Given the description of an element on the screen output the (x, y) to click on. 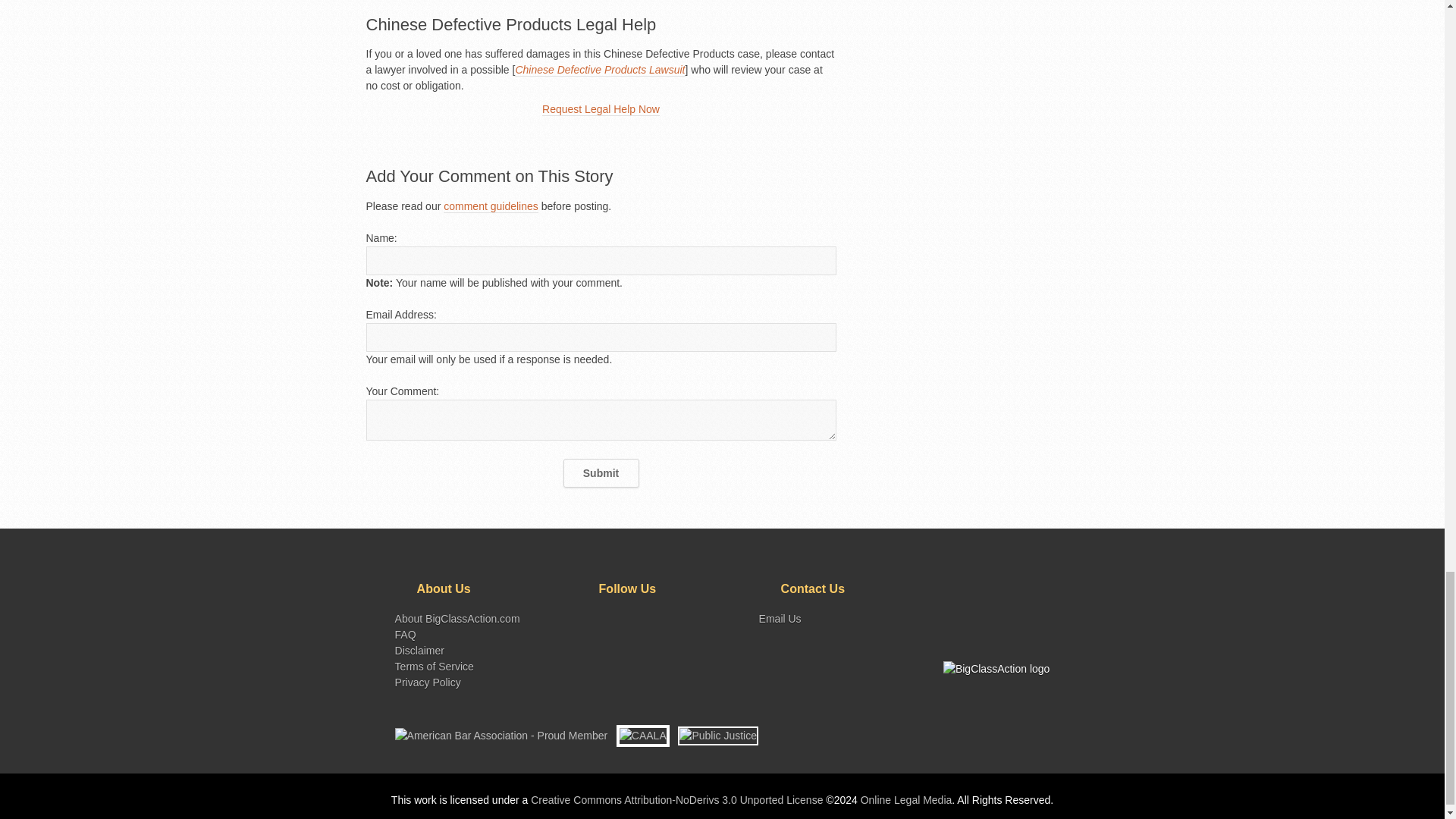
Disclaimer (419, 650)
Chinese Defective Products Lawsuit (599, 69)
About BigClassAction.com (456, 618)
Subscribe to RSS Feeds (585, 619)
Request Legal Help Now (600, 109)
Terms of Service (434, 666)
Free Newsletter (683, 619)
comment guidelines (491, 205)
Follow us on Twitter (610, 619)
Follow us on FaceBook (634, 619)
